Given the description of an element on the screen output the (x, y) to click on. 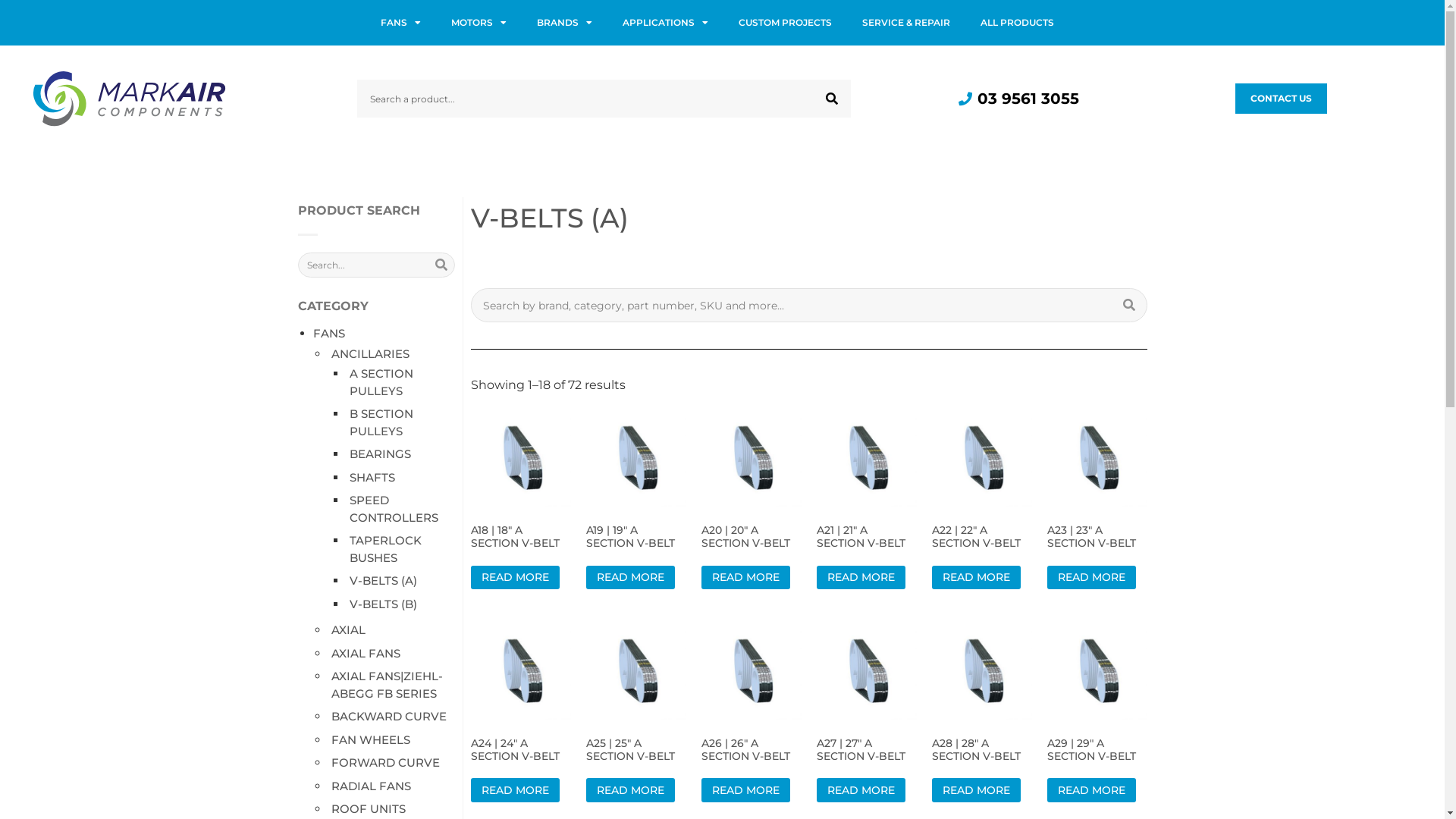
READ MORE Element type: text (859, 789)
READ MORE Element type: text (514, 789)
A SECTION PULLEYS Element type: text (380, 382)
CUSTOM PROJECTS Element type: text (785, 22)
AXIAL FANS Element type: text (364, 653)
SPEED CONTROLLERS Element type: text (392, 508)
BRANDS Element type: text (564, 22)
MOTORS Element type: text (477, 22)
03 9561 3055 Element type: text (1018, 98)
FORWARD CURVE Element type: text (384, 762)
ANCILLARIES Element type: text (369, 353)
READ MORE Element type: text (975, 789)
SERVICE & REPAIR Element type: text (905, 22)
READ MORE Element type: text (514, 577)
CONTACT US Element type: text (1281, 98)
TAPERLOCK BUSHES Element type: text (384, 548)
APPLICATIONS Element type: text (664, 22)
V-BELTS (A) Element type: text (382, 580)
AXIAL FANS|ZIEHL-ABEGG FB SERIES Element type: text (386, 684)
ALL PRODUCTS Element type: text (1016, 22)
READ MORE Element type: text (1090, 789)
BEARINGS Element type: text (379, 453)
AXIAL Element type: text (347, 629)
B SECTION PULLEYS Element type: text (380, 422)
READ MORE Element type: text (629, 789)
V-BELTS (B) Element type: text (382, 603)
READ MORE Element type: text (744, 577)
RADIAL FANS Element type: text (370, 785)
BACKWARD CURVE Element type: text (387, 716)
ROOF UNITS Element type: text (367, 808)
SHAFTS Element type: text (371, 477)
FAN WHEELS Element type: text (369, 739)
FANS Element type: text (400, 22)
READ MORE Element type: text (859, 577)
READ MORE Element type: text (1090, 577)
READ MORE Element type: text (629, 577)
READ MORE Element type: text (744, 789)
READ MORE Element type: text (975, 577)
FANS Element type: text (328, 333)
